Given the description of an element on the screen output the (x, y) to click on. 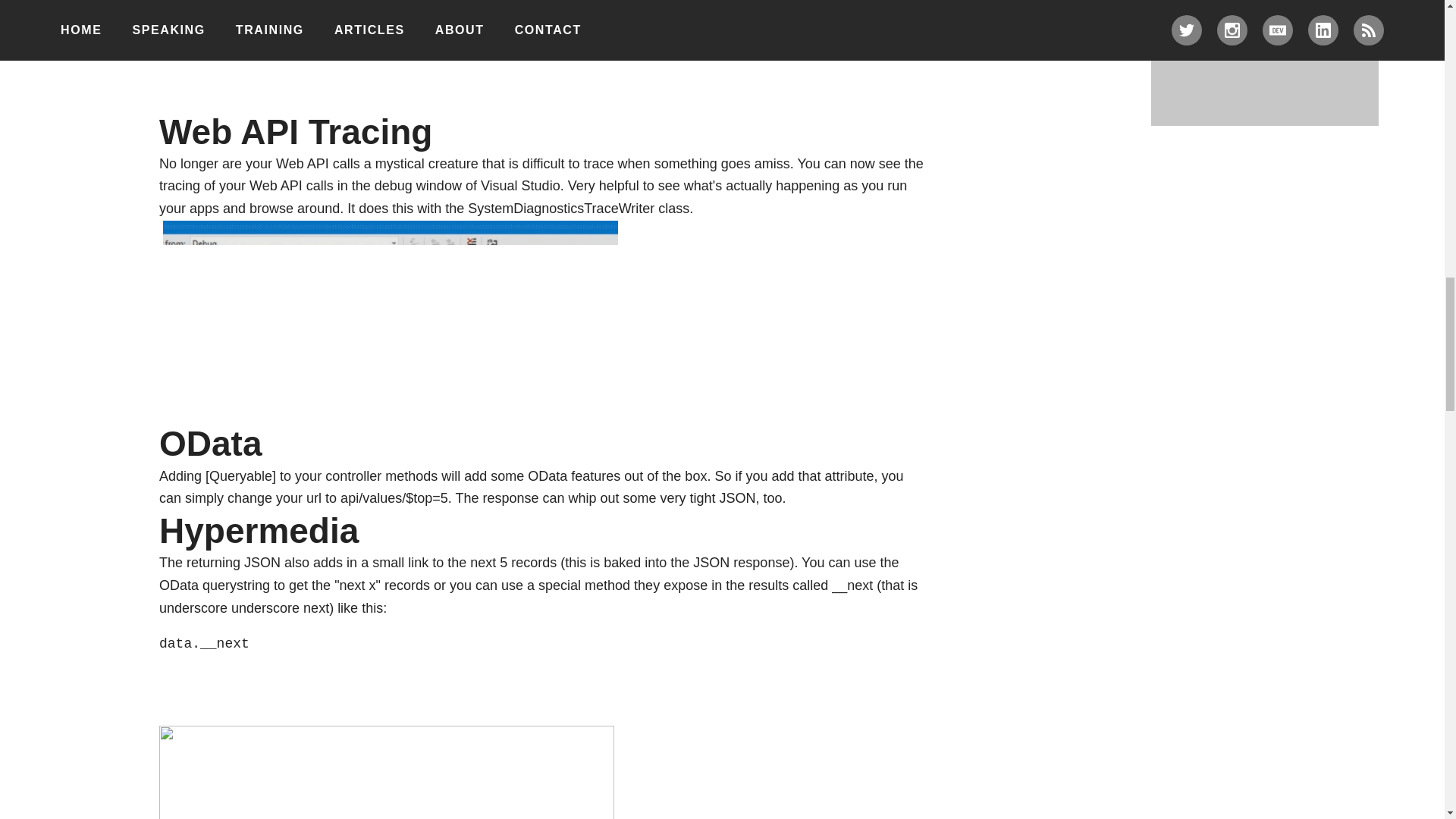
Tracing (390, 318)
next page (386, 772)
ASP.NET Templates (386, 20)
